Given the description of an element on the screen output the (x, y) to click on. 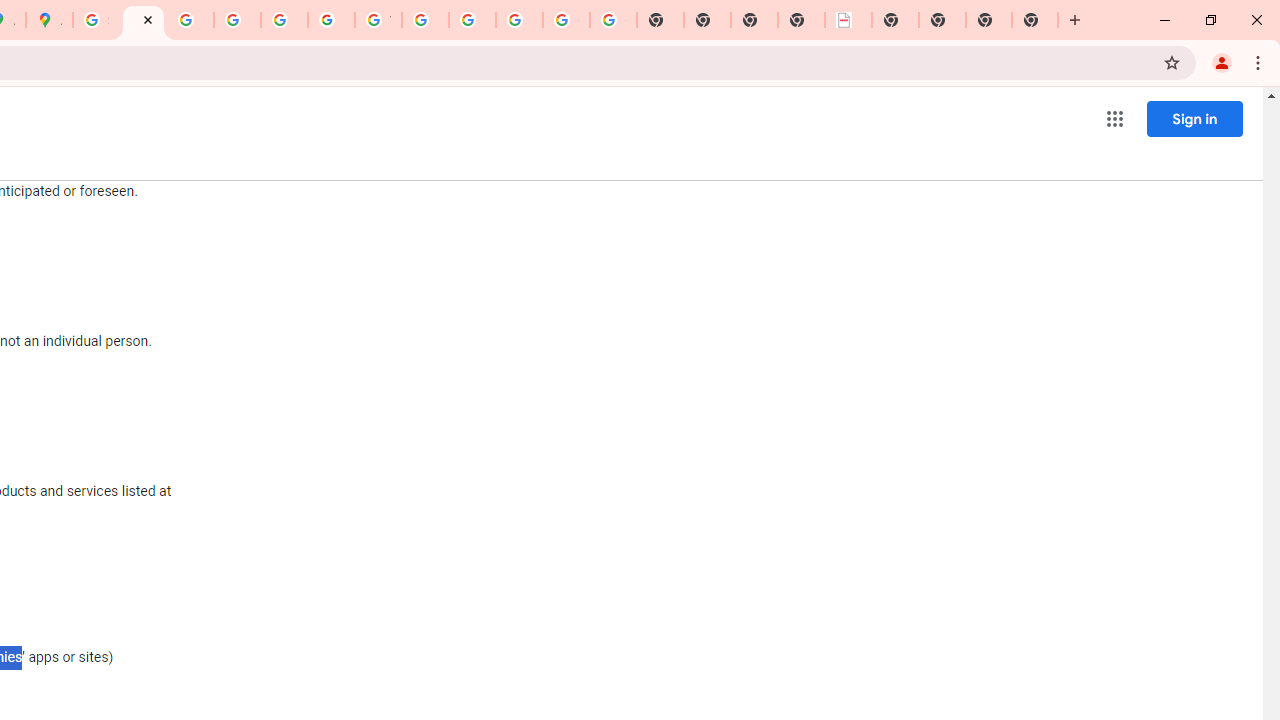
LAAD Defence & Security 2025 | BAE Systems (848, 20)
Sign in - Google Accounts (96, 20)
Privacy Help Center - Policies Help (189, 20)
YouTube (377, 20)
New Tab (1035, 20)
New Tab (895, 20)
New Tab (989, 20)
